Given the description of an element on the screen output the (x, y) to click on. 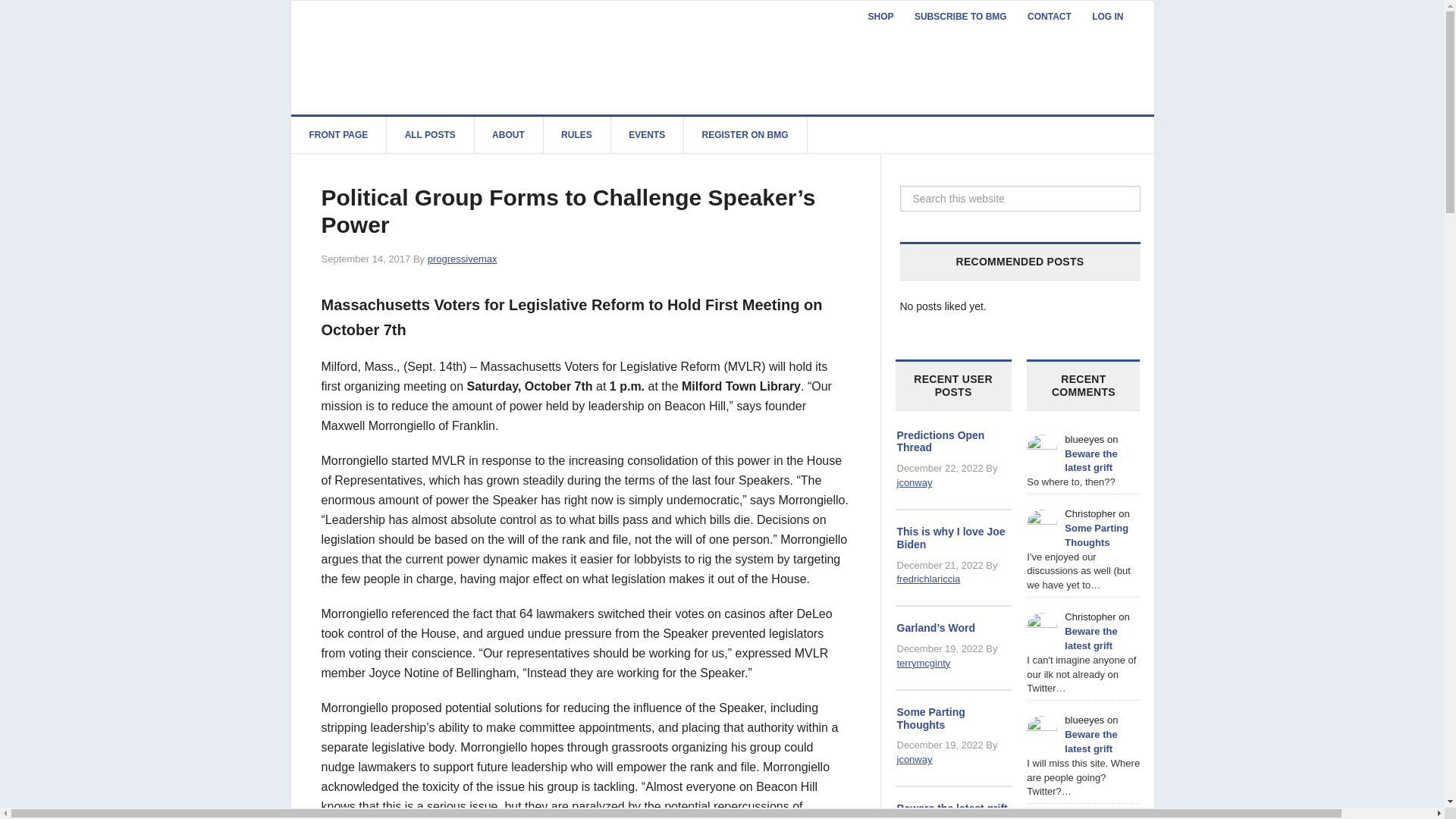
ABOUT (508, 135)
Beware the latest grift (951, 808)
Predictions Open Thread (940, 441)
SHOP (880, 16)
ALL POSTS (430, 135)
EVENTS (647, 135)
Beware the latest grift (1090, 460)
jconway (913, 482)
